Given the description of an element on the screen output the (x, y) to click on. 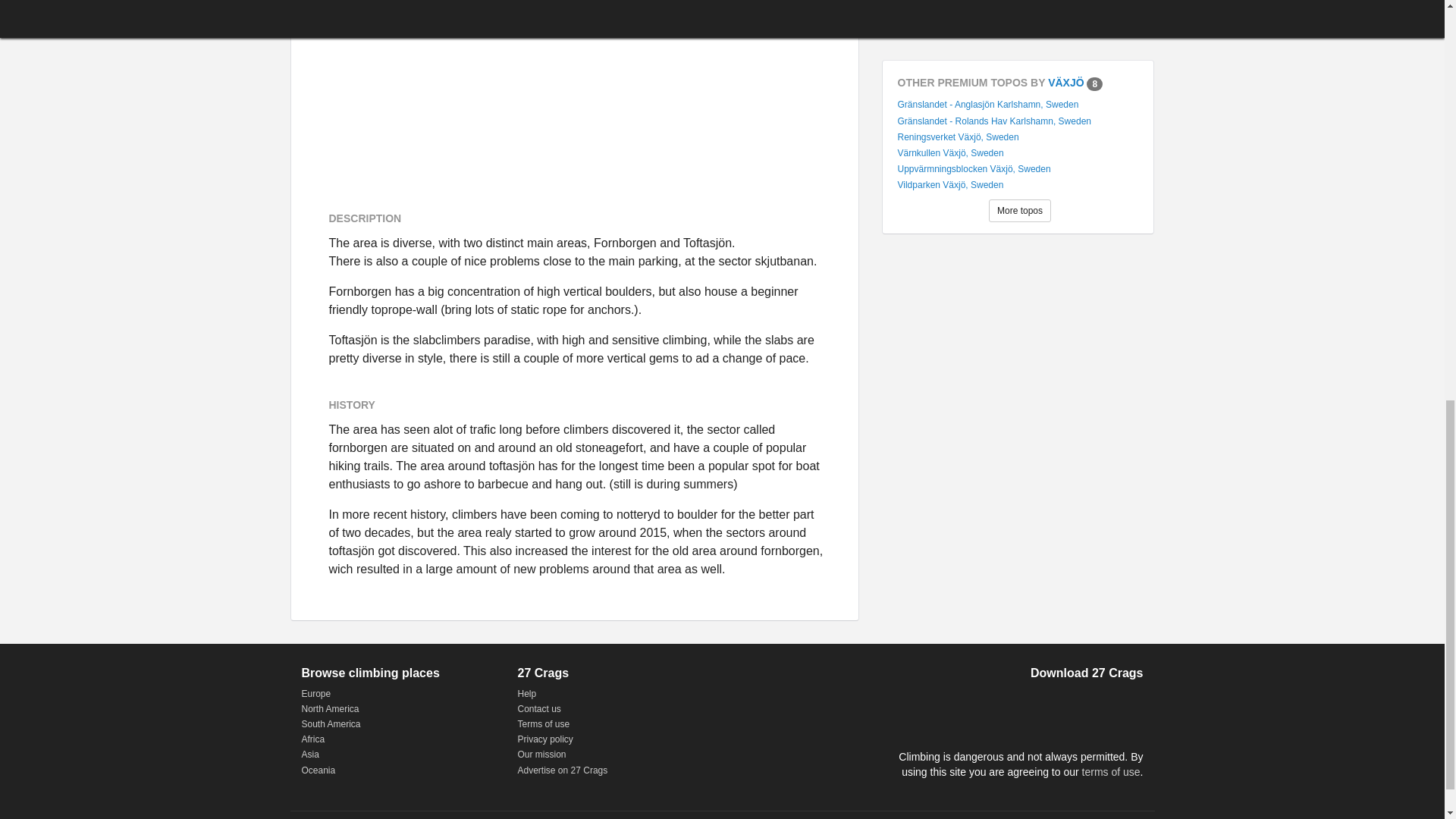
See all members (1019, 13)
More topos (1019, 210)
Europe (316, 693)
North America (330, 708)
